Given the description of an element on the screen output the (x, y) to click on. 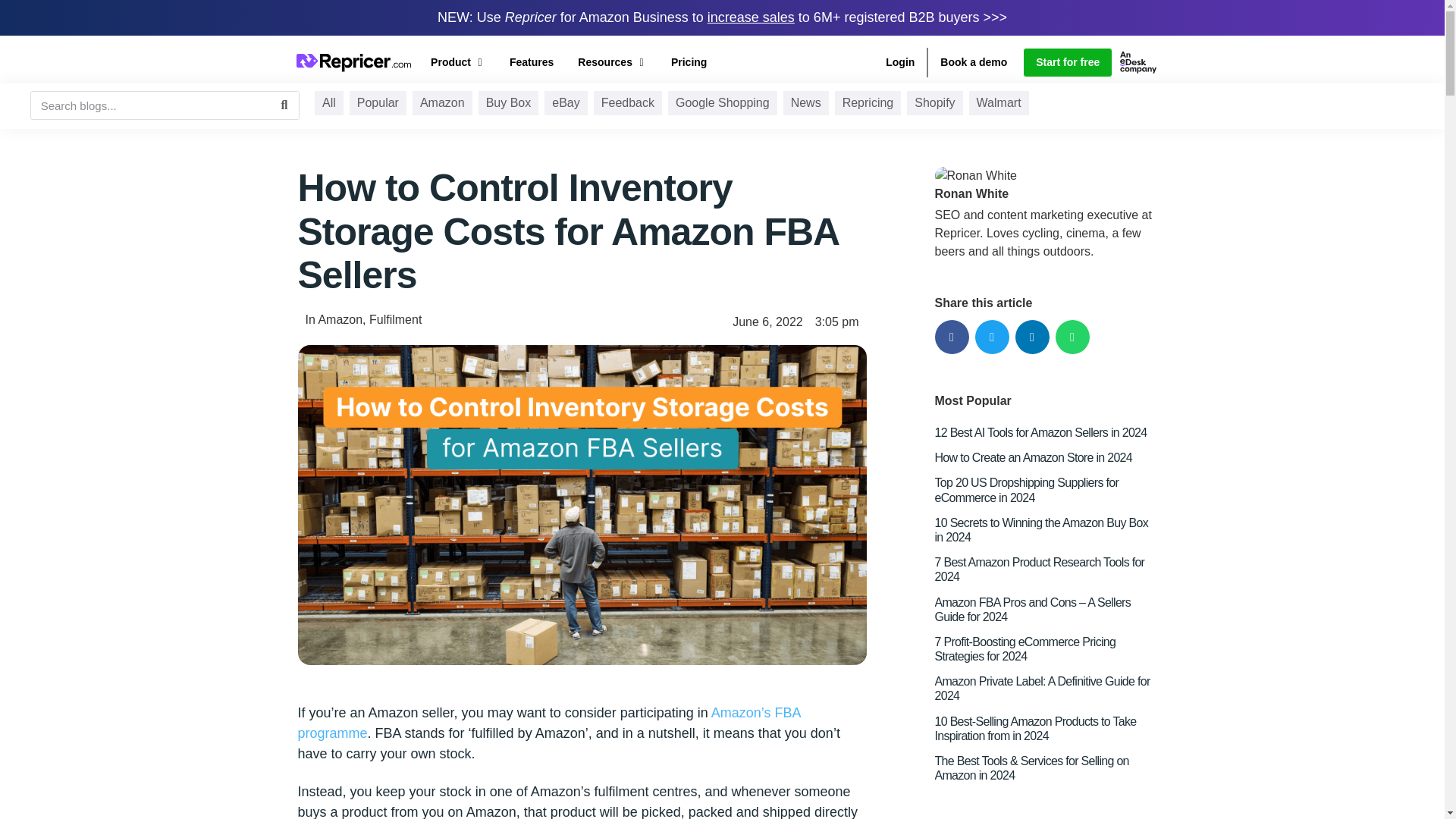
Login (899, 62)
Pricing (688, 62)
Features (531, 62)
